Given the description of an element on the screen output the (x, y) to click on. 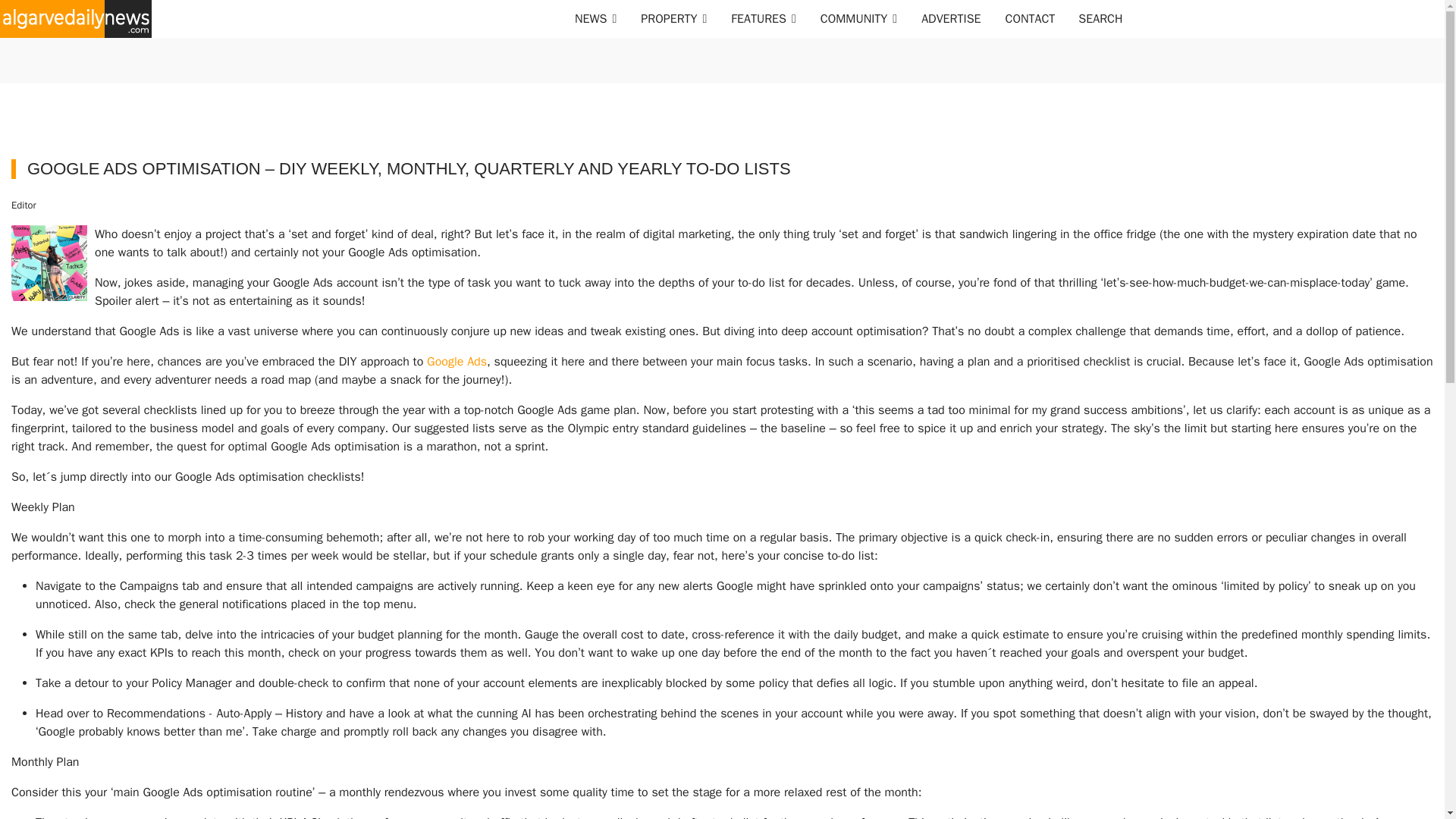
FEATURES (763, 18)
Google Ads (456, 361)
NEWS (595, 18)
PROPERTY (673, 18)
Written by Editor (23, 205)
